Given the description of an element on the screen output the (x, y) to click on. 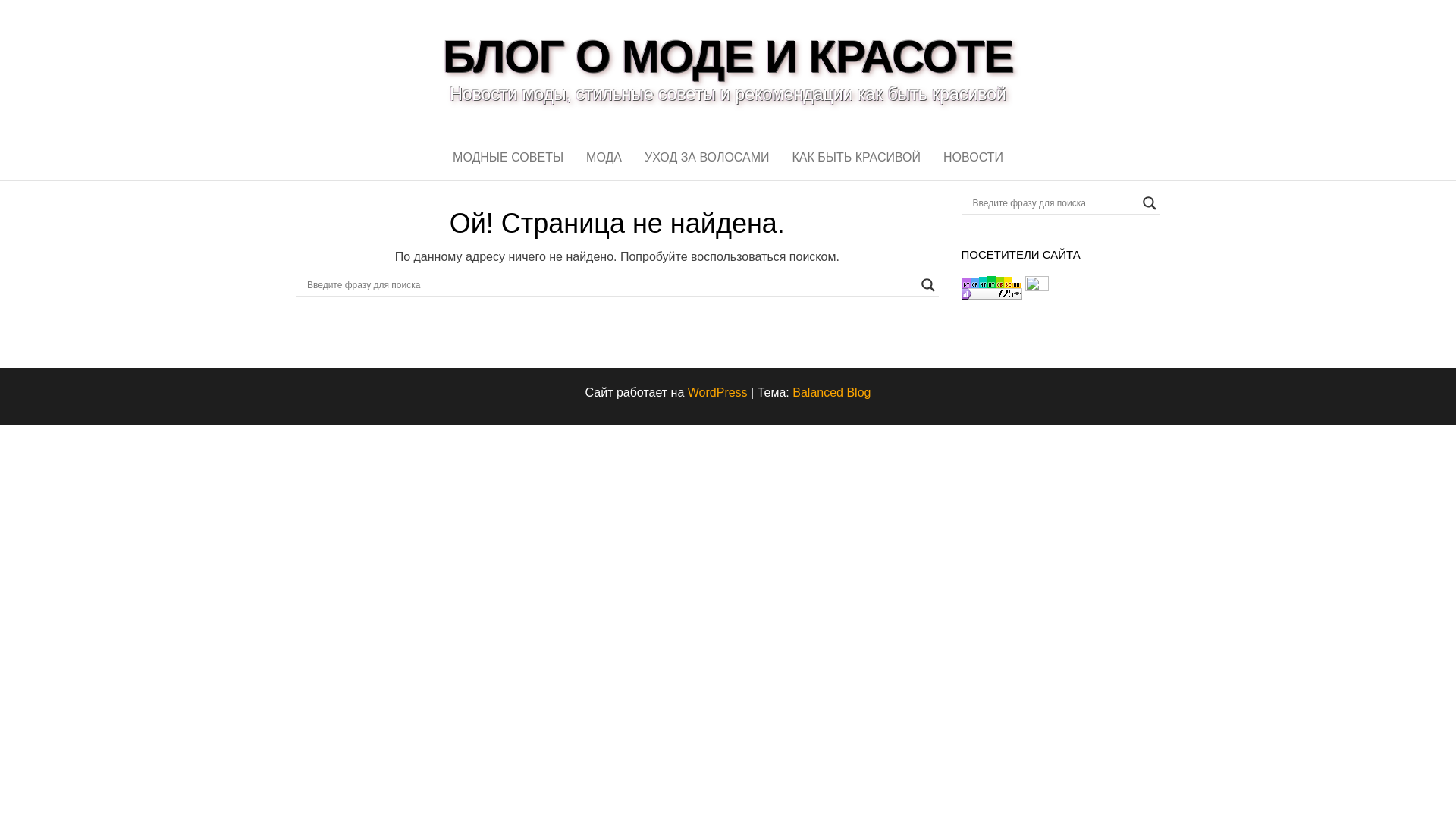
Balanced Blog (831, 391)
LiveInternet (1036, 287)
WordPress (717, 391)
